Given the description of an element on the screen output the (x, y) to click on. 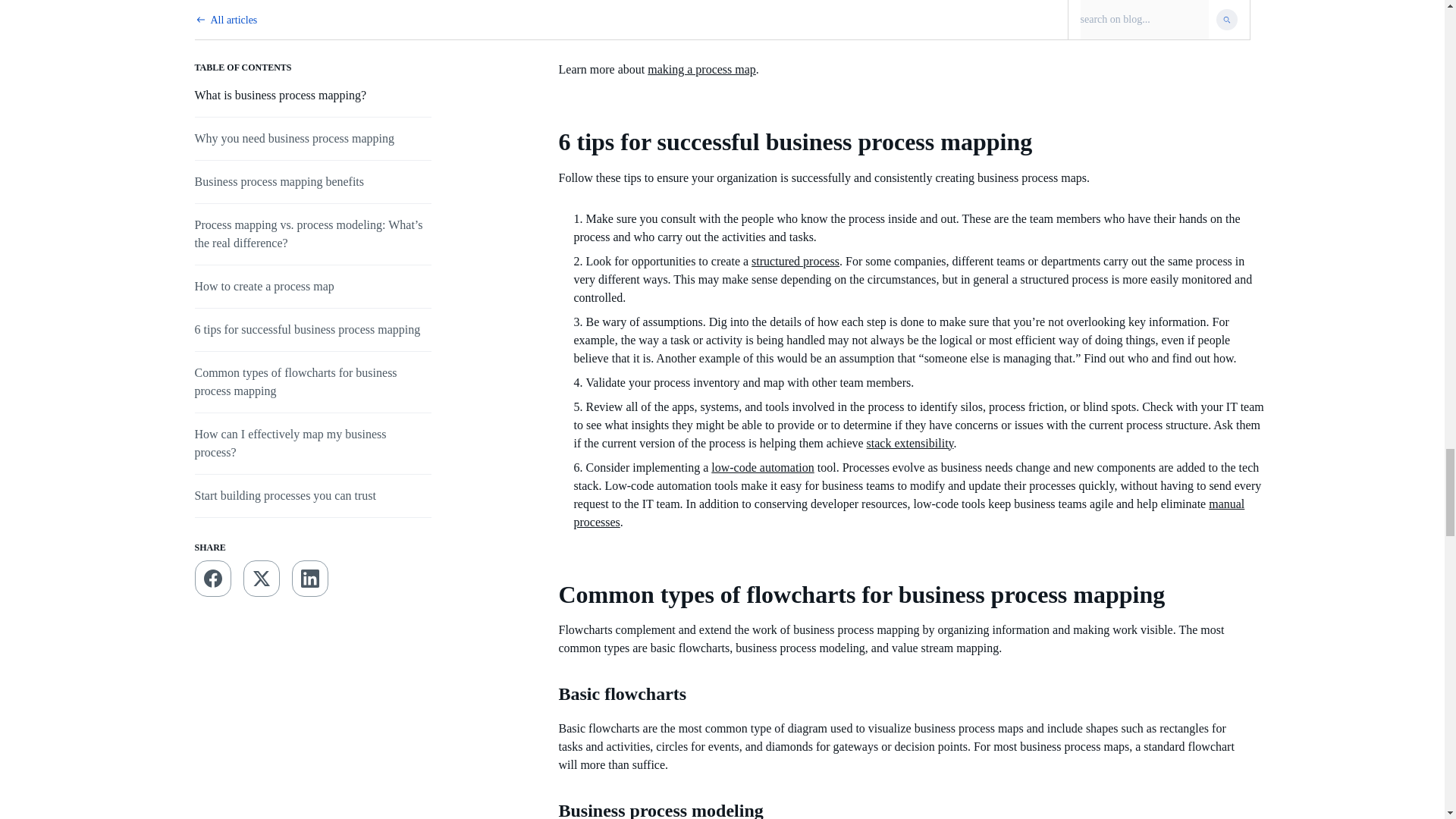
making a process map (701, 69)
